Given the description of an element on the screen output the (x, y) to click on. 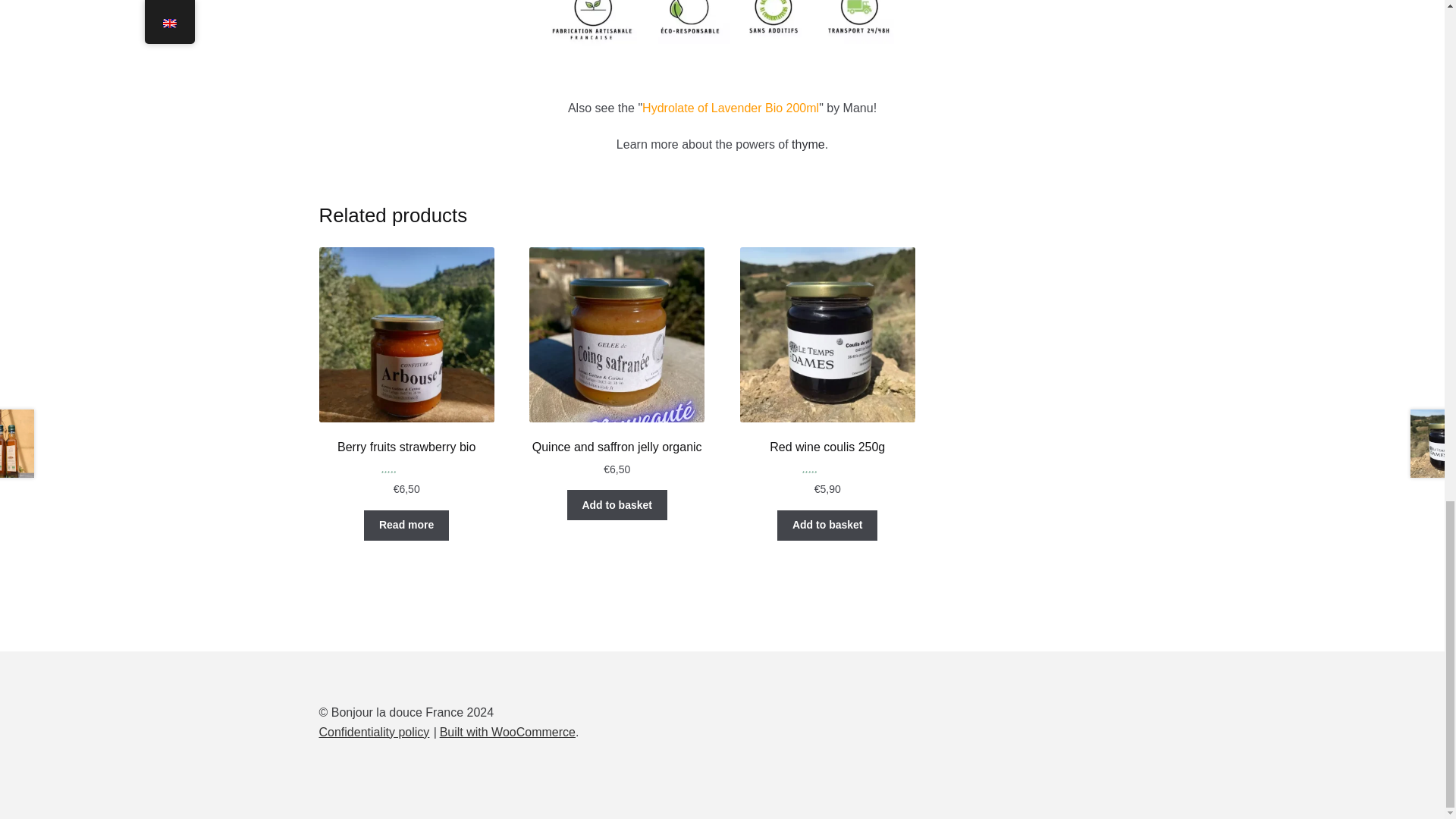
WooCommerce - The Best eCommerce Platform for WordPress (507, 731)
